Given the description of an element on the screen output the (x, y) to click on. 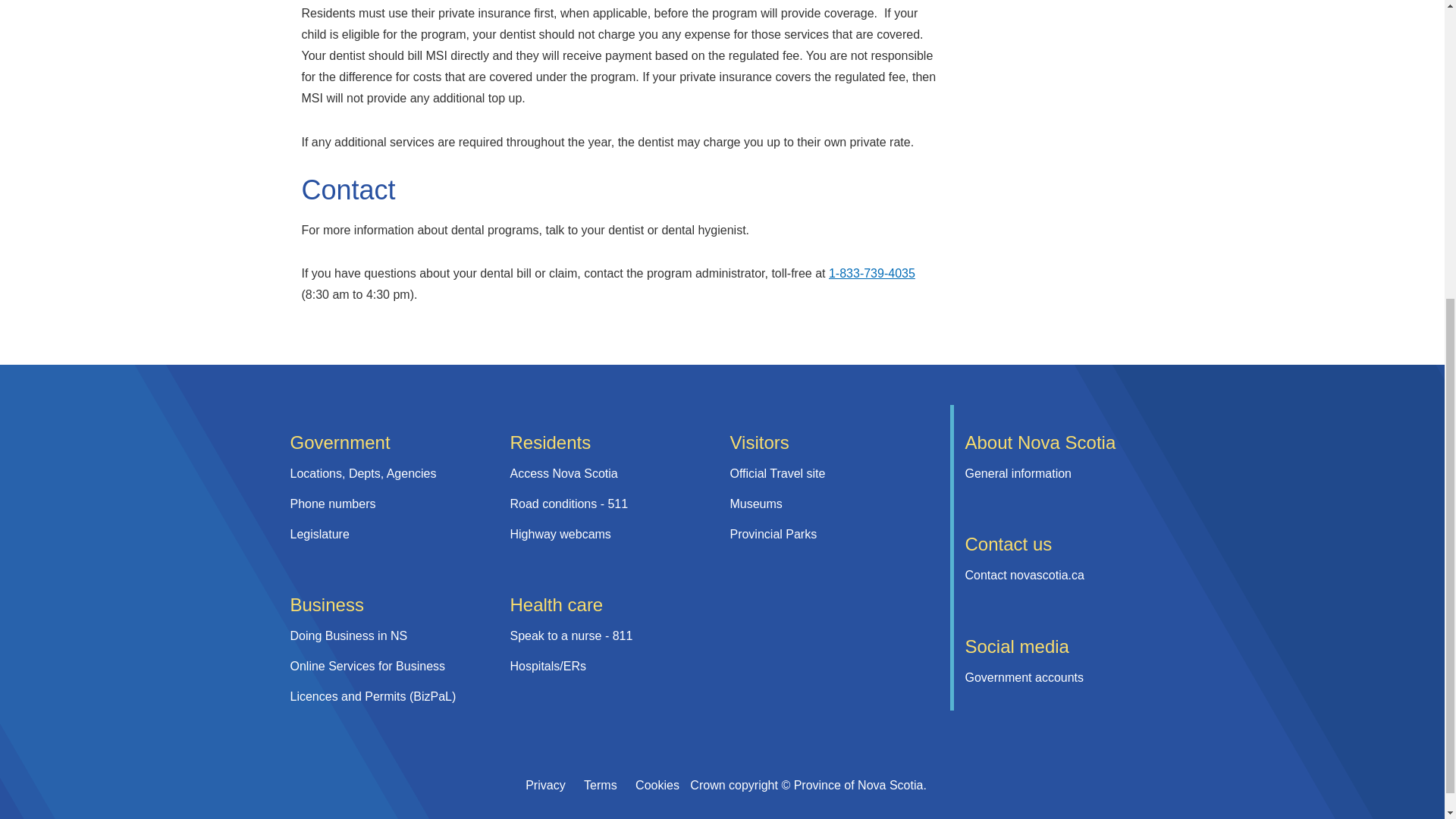
1-833-739-4035 (871, 273)
Phone numbers (332, 503)
Locations, Depts, Agencies (362, 472)
Access Nova Scotia (563, 472)
Legislature (319, 533)
